Given the description of an element on the screen output the (x, y) to click on. 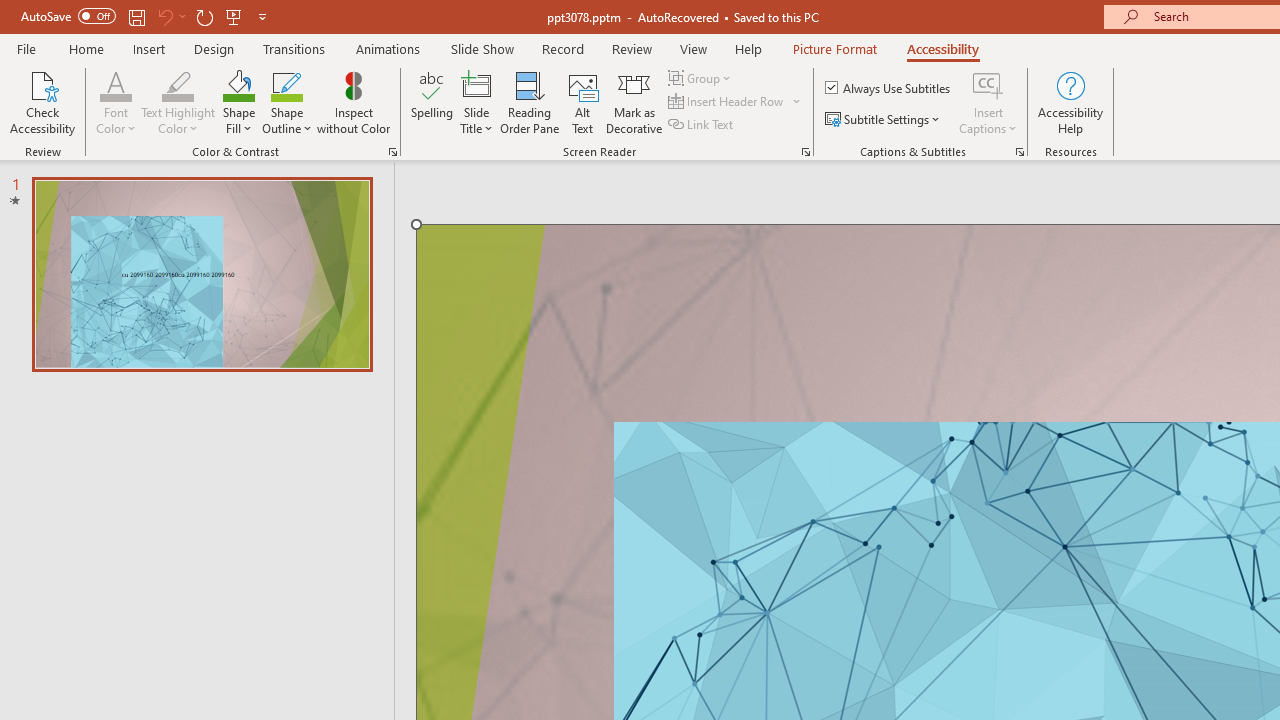
Inspect without Color (353, 102)
Subtitle Settings (884, 119)
Screen Reader (805, 151)
Picture Format (834, 48)
